Given the description of an element on the screen output the (x, y) to click on. 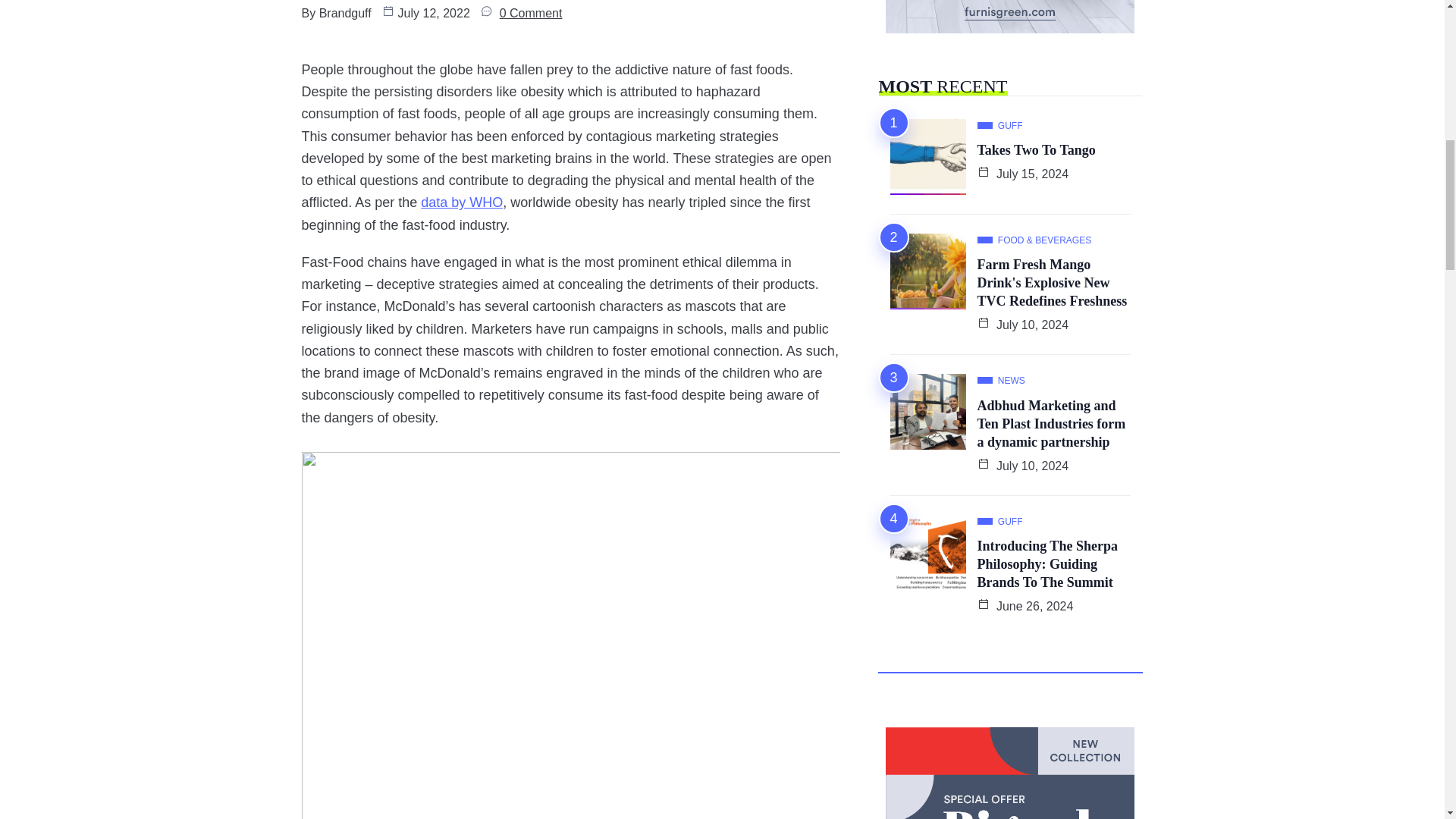
0 Comment (530, 13)
data by WHO (461, 202)
Takes Two To Tango (1035, 150)
Brandguff (344, 13)
